Given the description of an element on the screen output the (x, y) to click on. 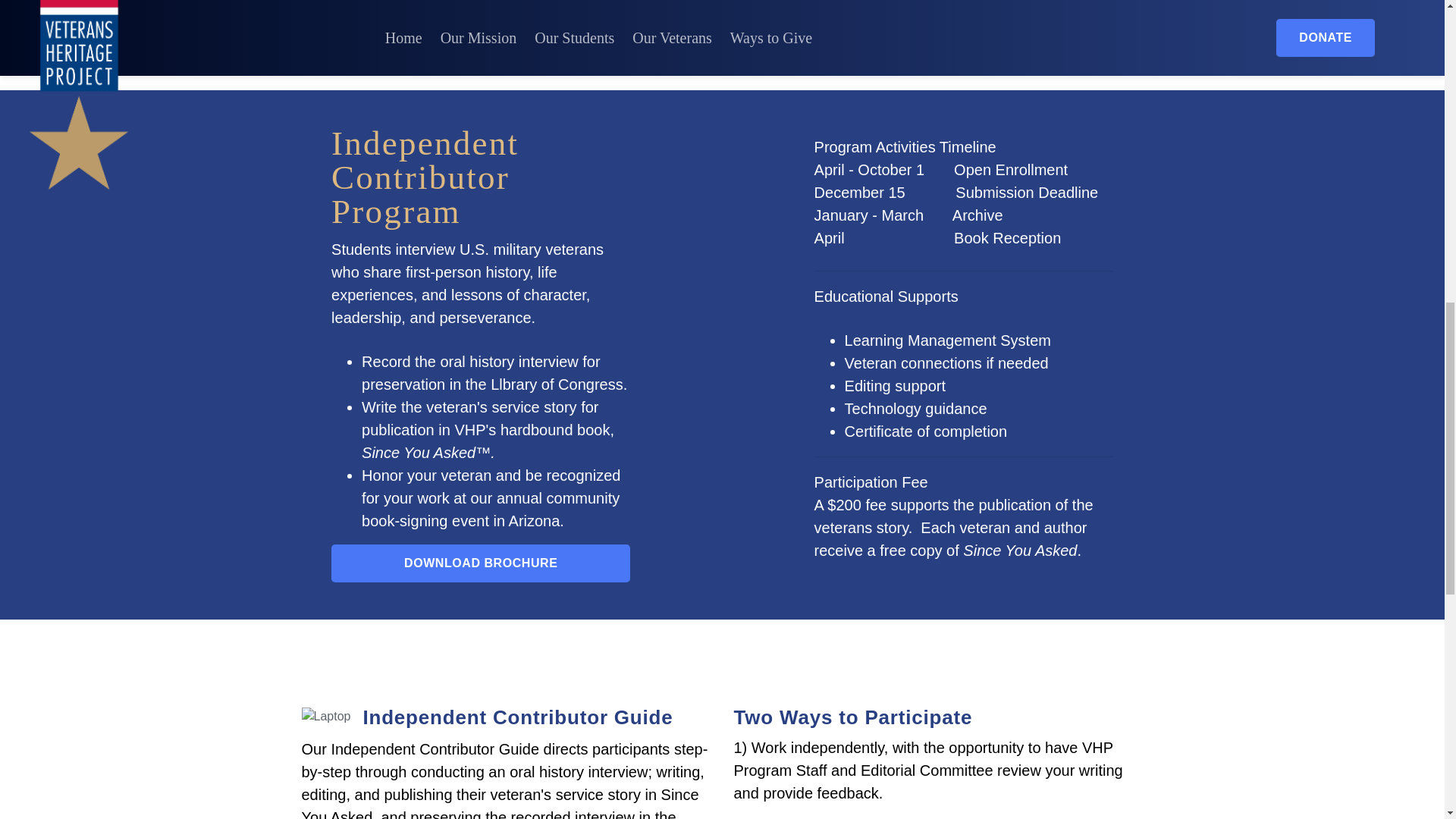
DOWNLOAD BROCHURE (480, 563)
